Given the description of an element on the screen output the (x, y) to click on. 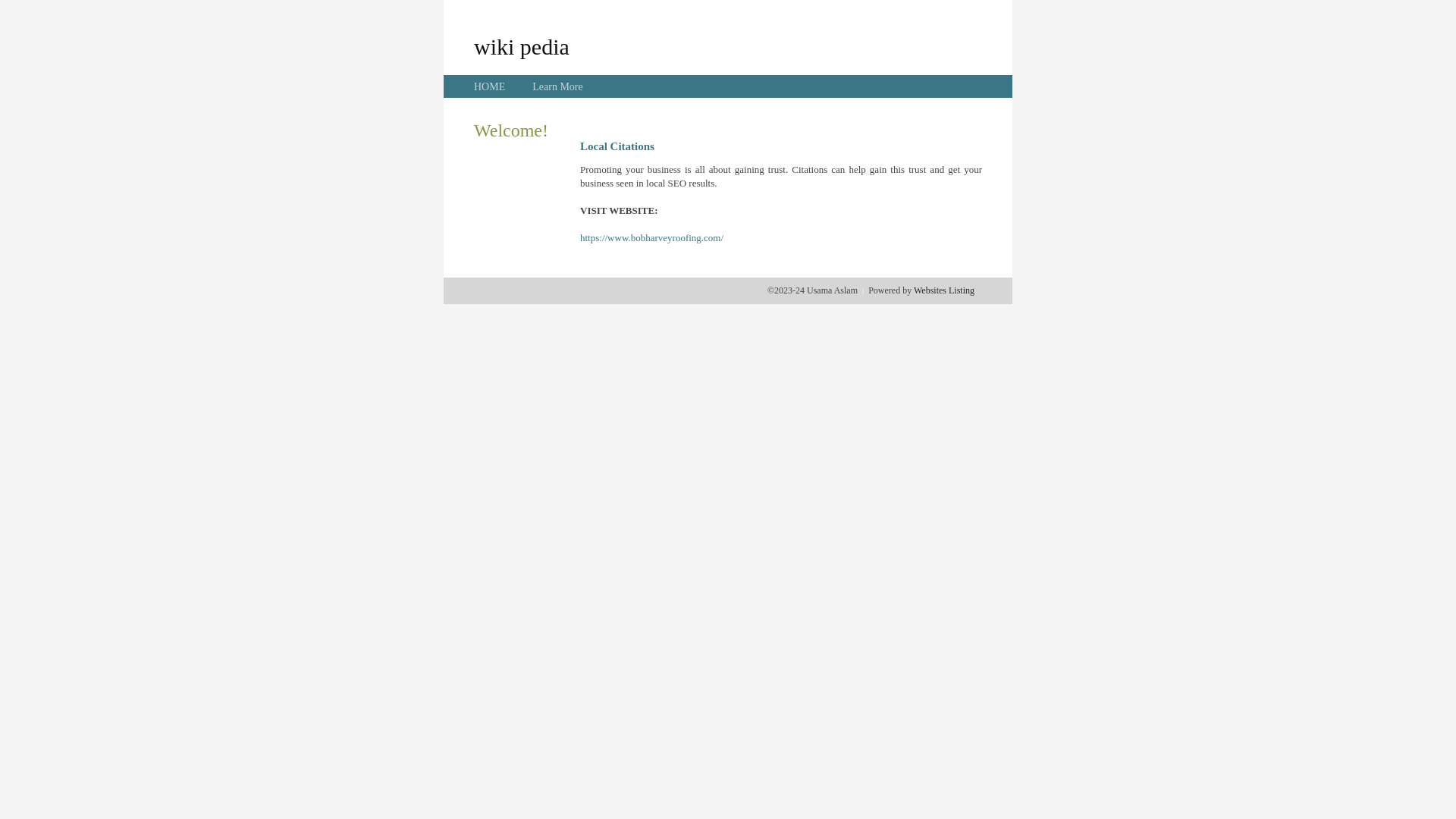
https://www.bobharveyroofing.com/ Element type: text (651, 237)
Learn More Element type: text (557, 86)
HOME Element type: text (489, 86)
Websites Listing Element type: text (943, 290)
wiki pedia Element type: text (521, 46)
